Given the description of an element on the screen output the (x, y) to click on. 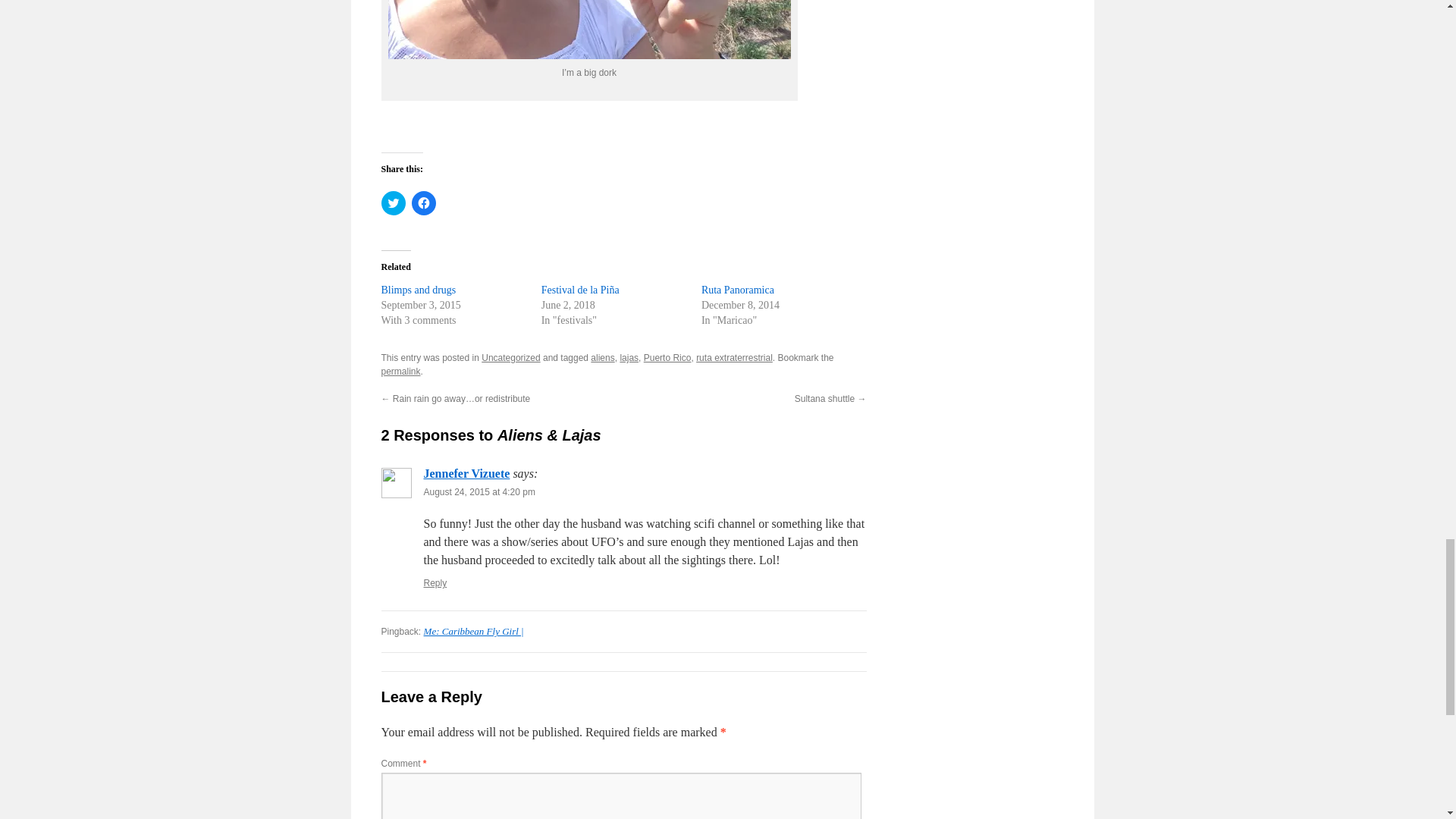
Puerto Rico (667, 357)
aliens (602, 357)
permalink (400, 371)
Jennefer Vizuete (466, 472)
Reply (434, 583)
lajas (629, 357)
August 24, 2015 at 4:20 pm (478, 491)
Click to share on Twitter (392, 202)
Ruta Panoramica (737, 289)
Uncategorized (510, 357)
Ruta Panoramica (737, 289)
Blimps and drugs (417, 289)
Blimps and drugs (417, 289)
ruta extraterrestrial (734, 357)
Click to share on Facebook (422, 202)
